Given the description of an element on the screen output the (x, y) to click on. 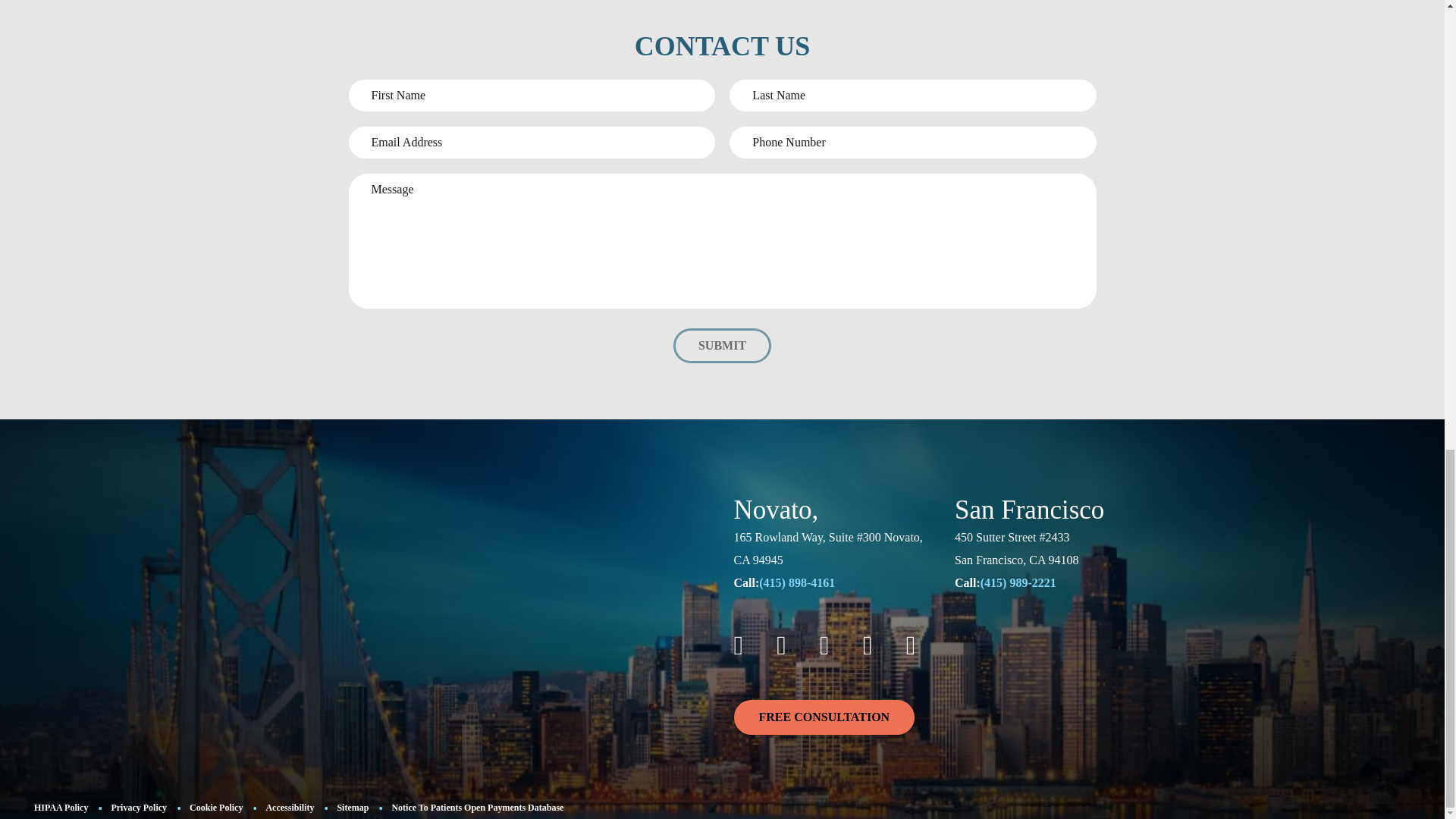
Submit (721, 345)
